Given the description of an element on the screen output the (x, y) to click on. 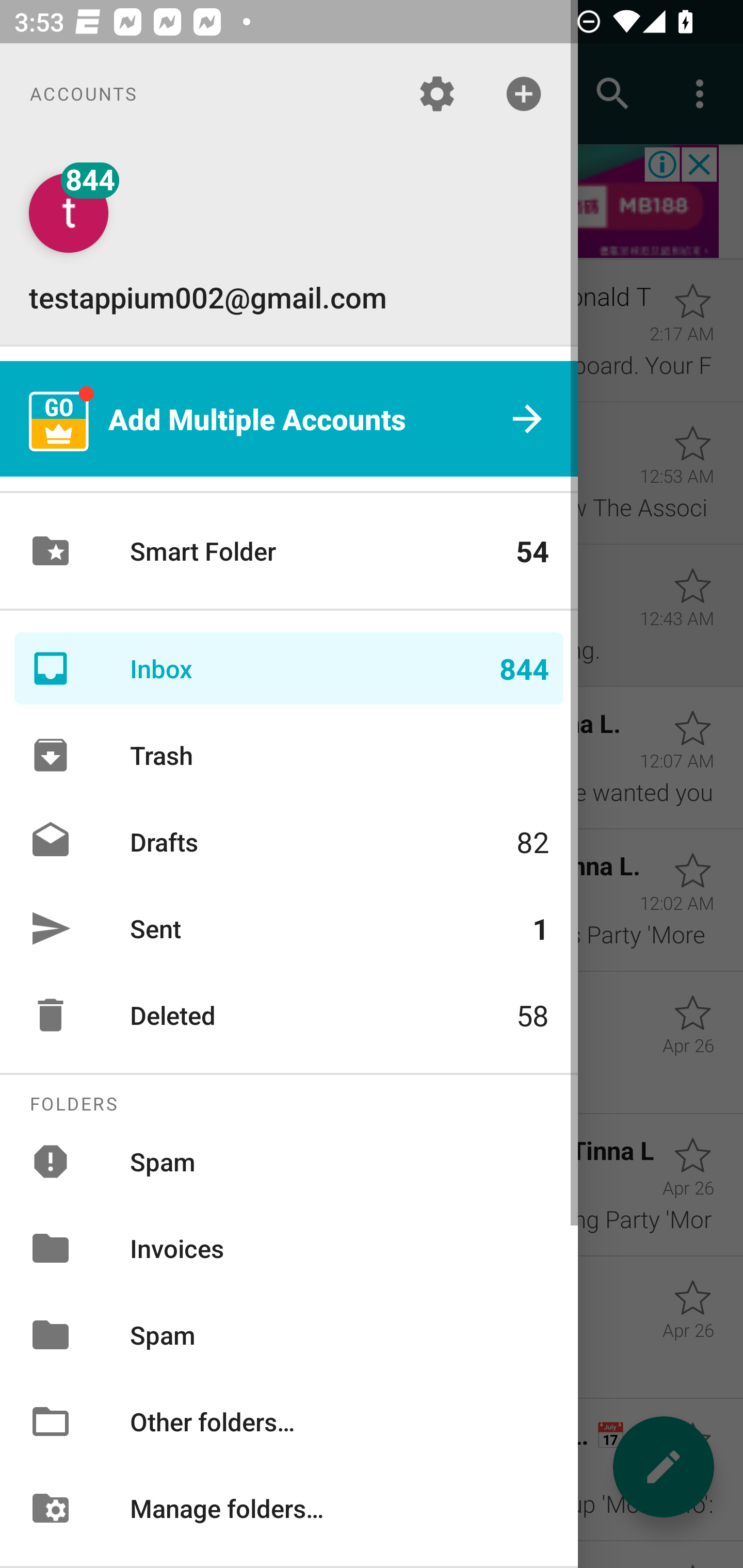
testappium002@gmail.com (289, 244)
Add Multiple Accounts (289, 418)
Smart Folder 54 (289, 551)
Inbox 844 (289, 668)
Trash (289, 754)
Drafts 82 (289, 841)
Sent 1 (289, 928)
Deleted 58 (289, 1015)
Spam (289, 1160)
Invoices (289, 1248)
Spam (289, 1335)
Other folders… (289, 1421)
Manage folders… (289, 1507)
